Given the description of an element on the screen output the (x, y) to click on. 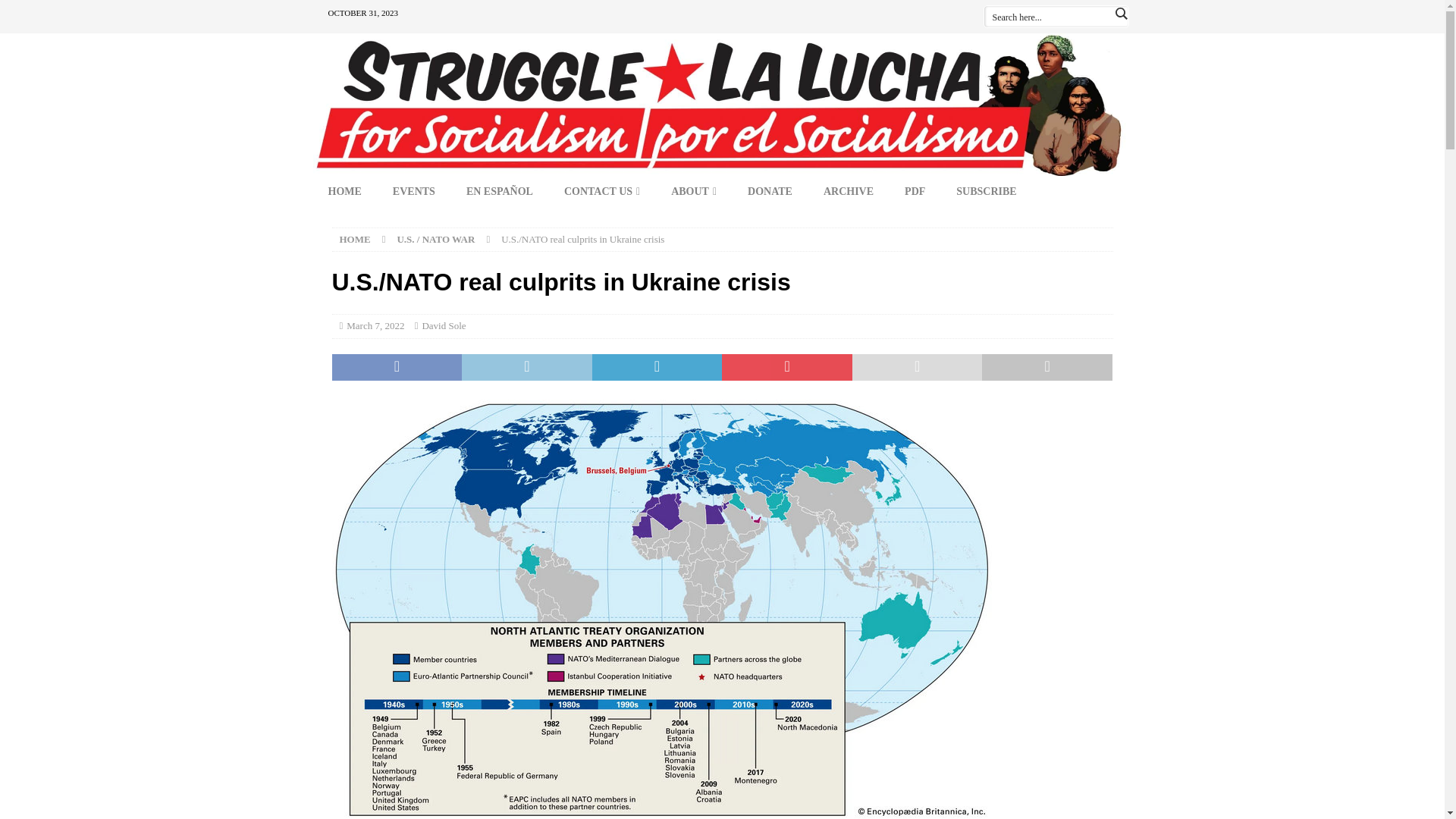
HOME (344, 192)
HOME (355, 238)
DONATE (770, 192)
EVENTS (413, 192)
David Sole (443, 325)
ARCHIVE (848, 192)
CONTACT US (601, 192)
PDF (914, 192)
March 7, 2022 (375, 325)
ABOUT (693, 192)
